Given the description of an element on the screen output the (x, y) to click on. 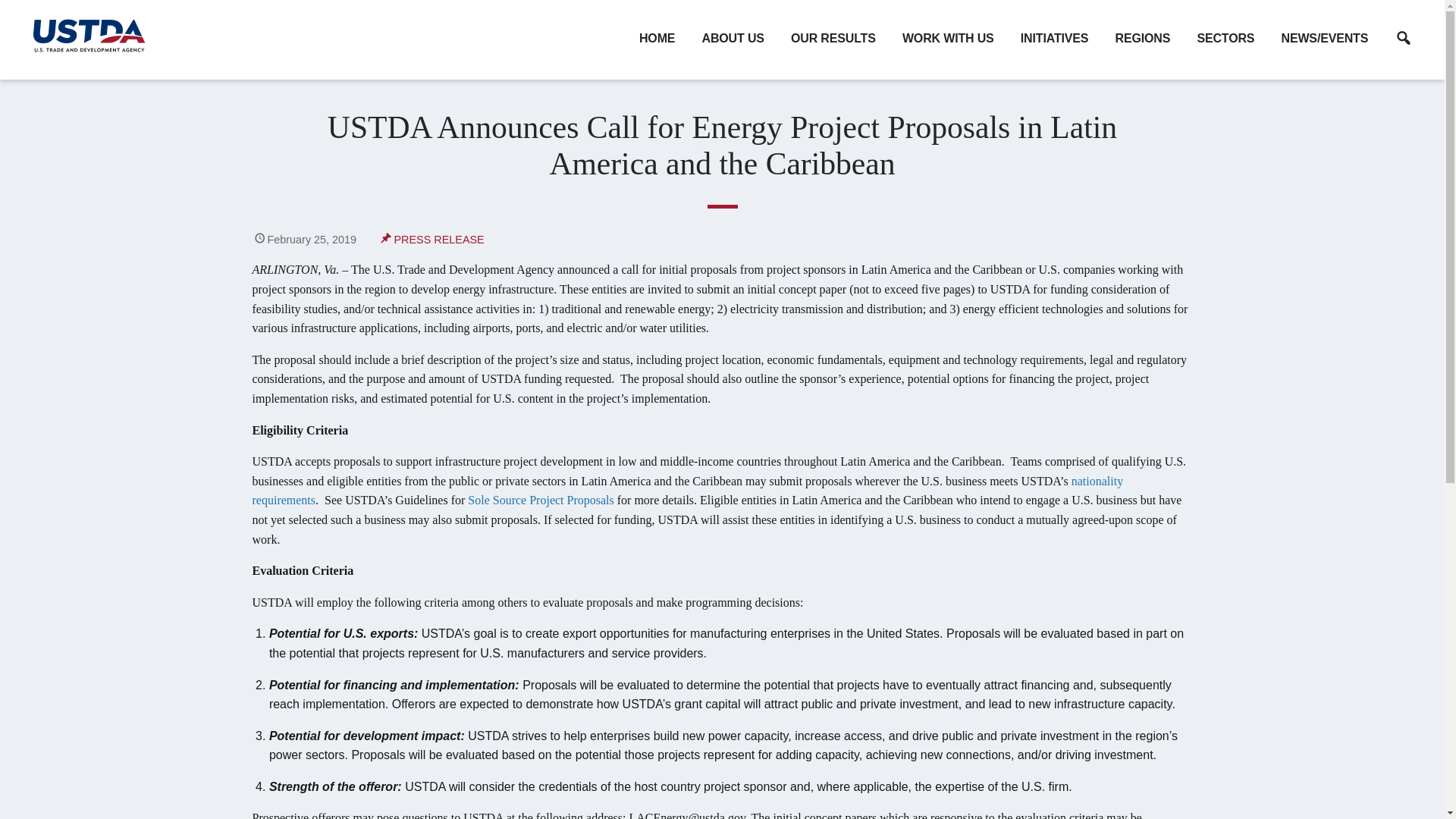
REGIONS (1142, 39)
SECTORS (1225, 39)
INITIATIVES (1054, 39)
ABOUT US (732, 39)
OUR RESULTS (832, 39)
WORK WITH US (947, 39)
